Given the description of an element on the screen output the (x, y) to click on. 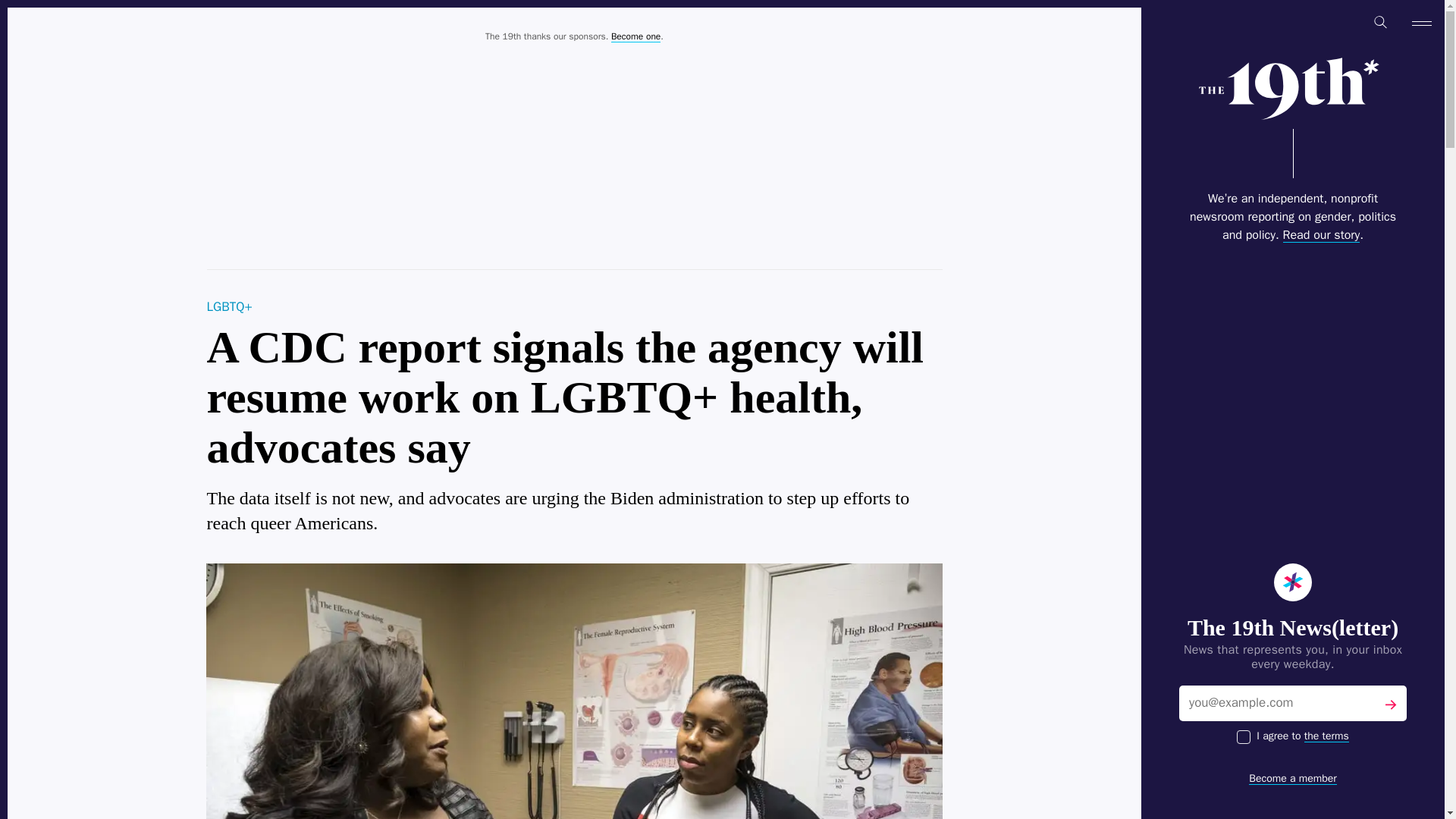
on (1243, 736)
